Given the description of an element on the screen output the (x, y) to click on. 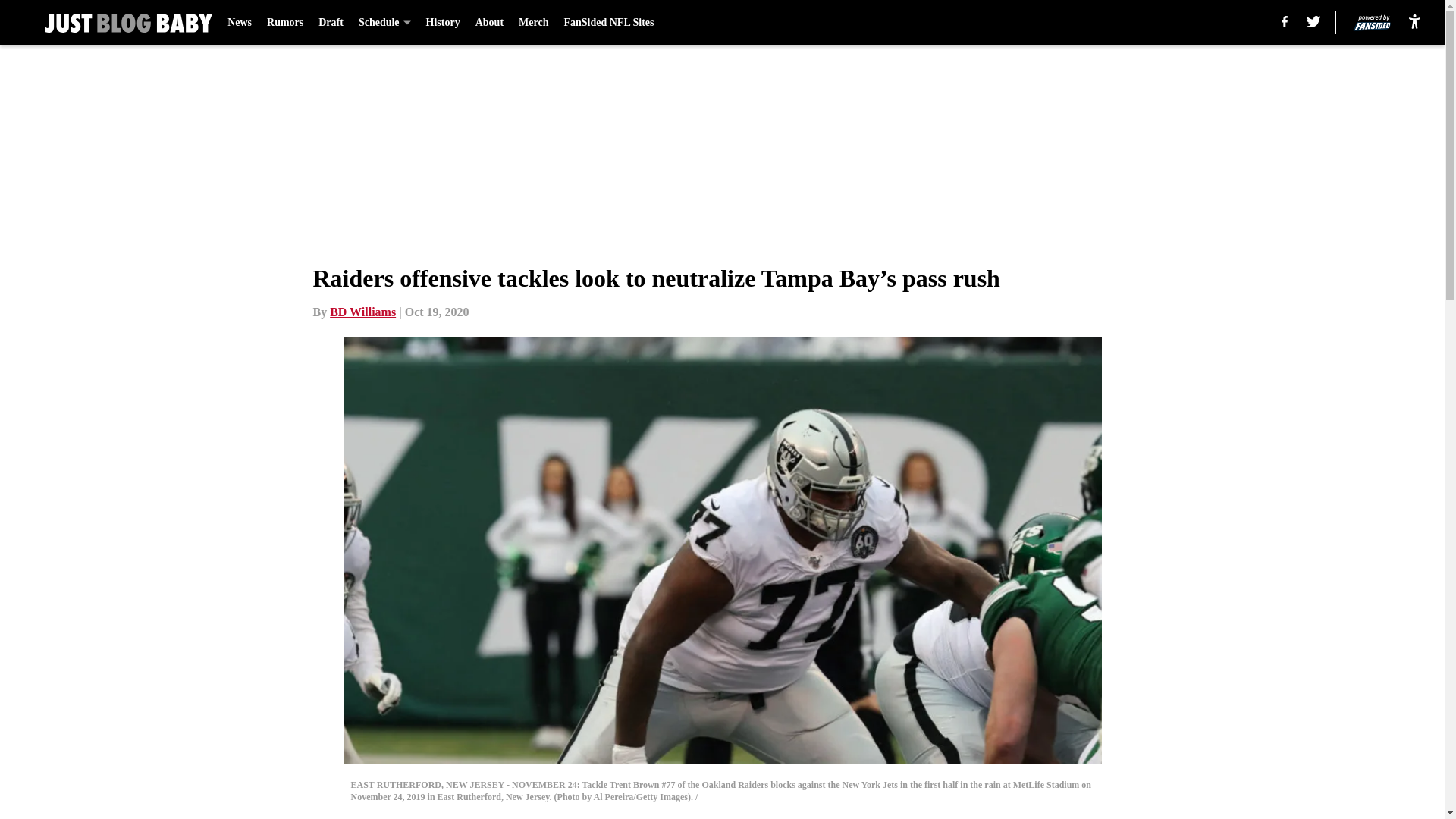
Rumors (284, 22)
News (239, 22)
FanSided NFL Sites (608, 22)
Draft (330, 22)
History (443, 22)
Merch (533, 22)
BD Williams (363, 311)
About (489, 22)
